Given the description of an element on the screen output the (x, y) to click on. 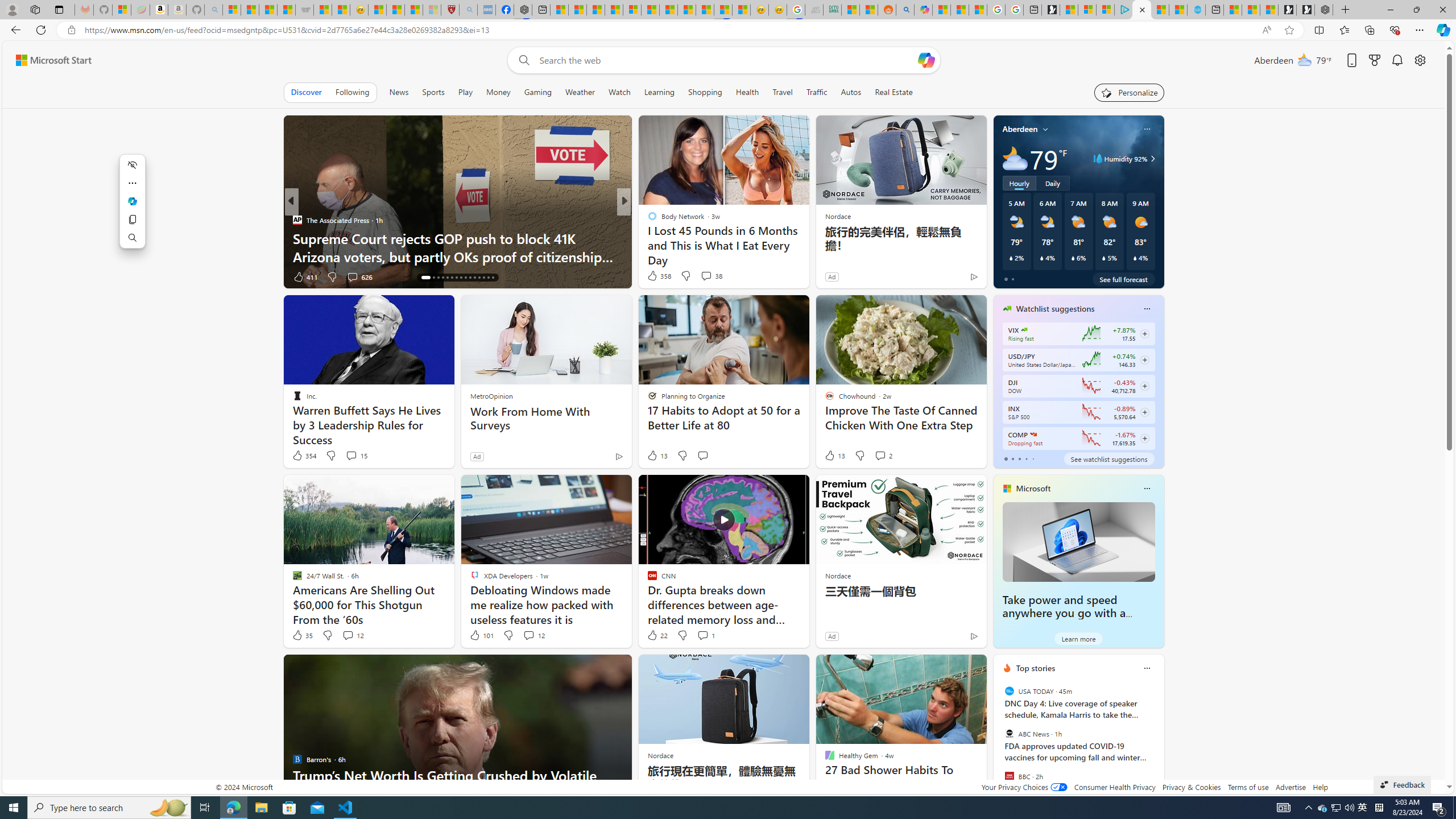
View comments 15 Comment (355, 455)
View comments 2 Comment (879, 455)
